Given the description of an element on the screen output the (x, y) to click on. 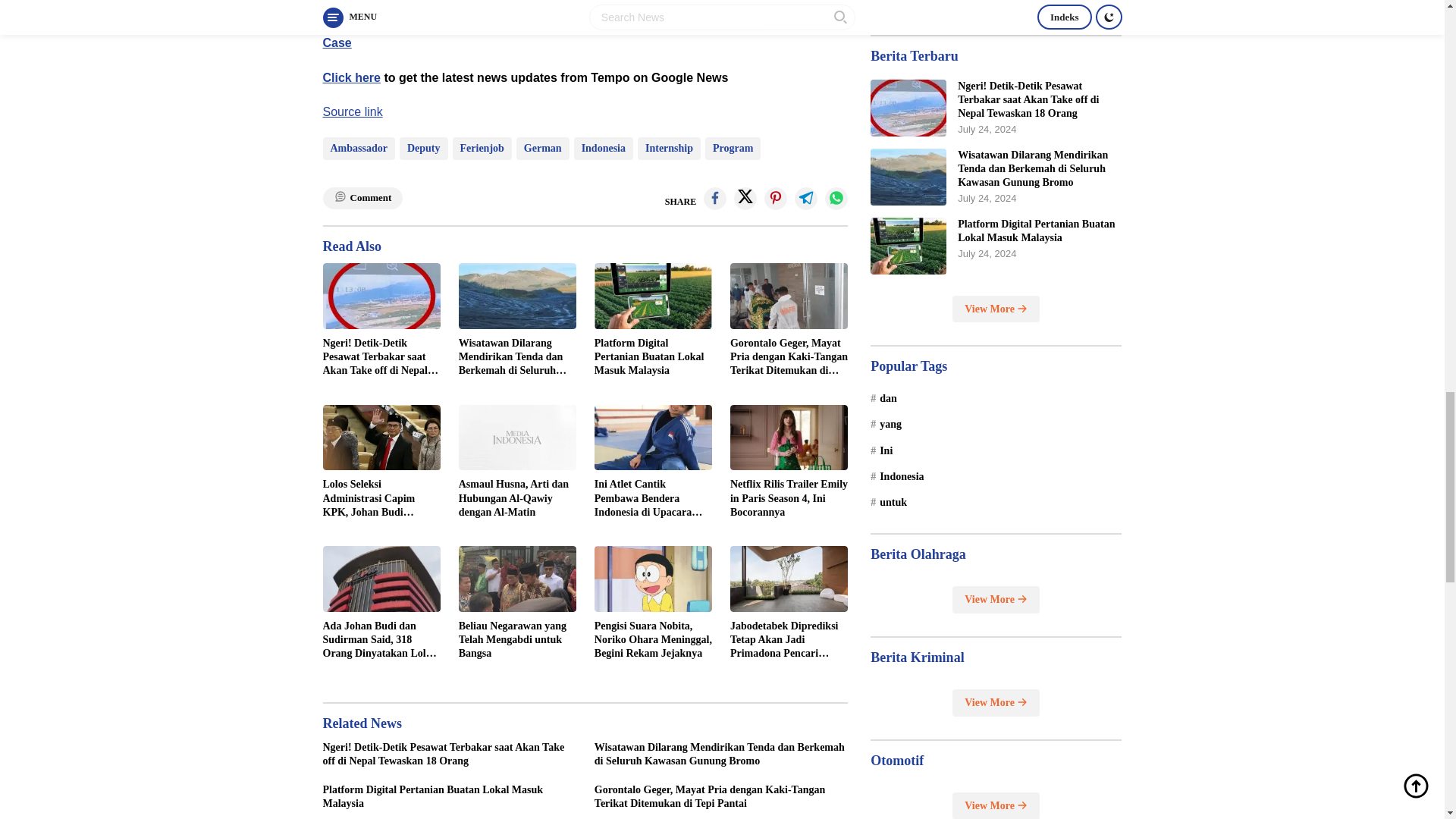
Source link (352, 111)
Click here (351, 77)
Ambassador (358, 148)
